Given the description of an element on the screen output the (x, y) to click on. 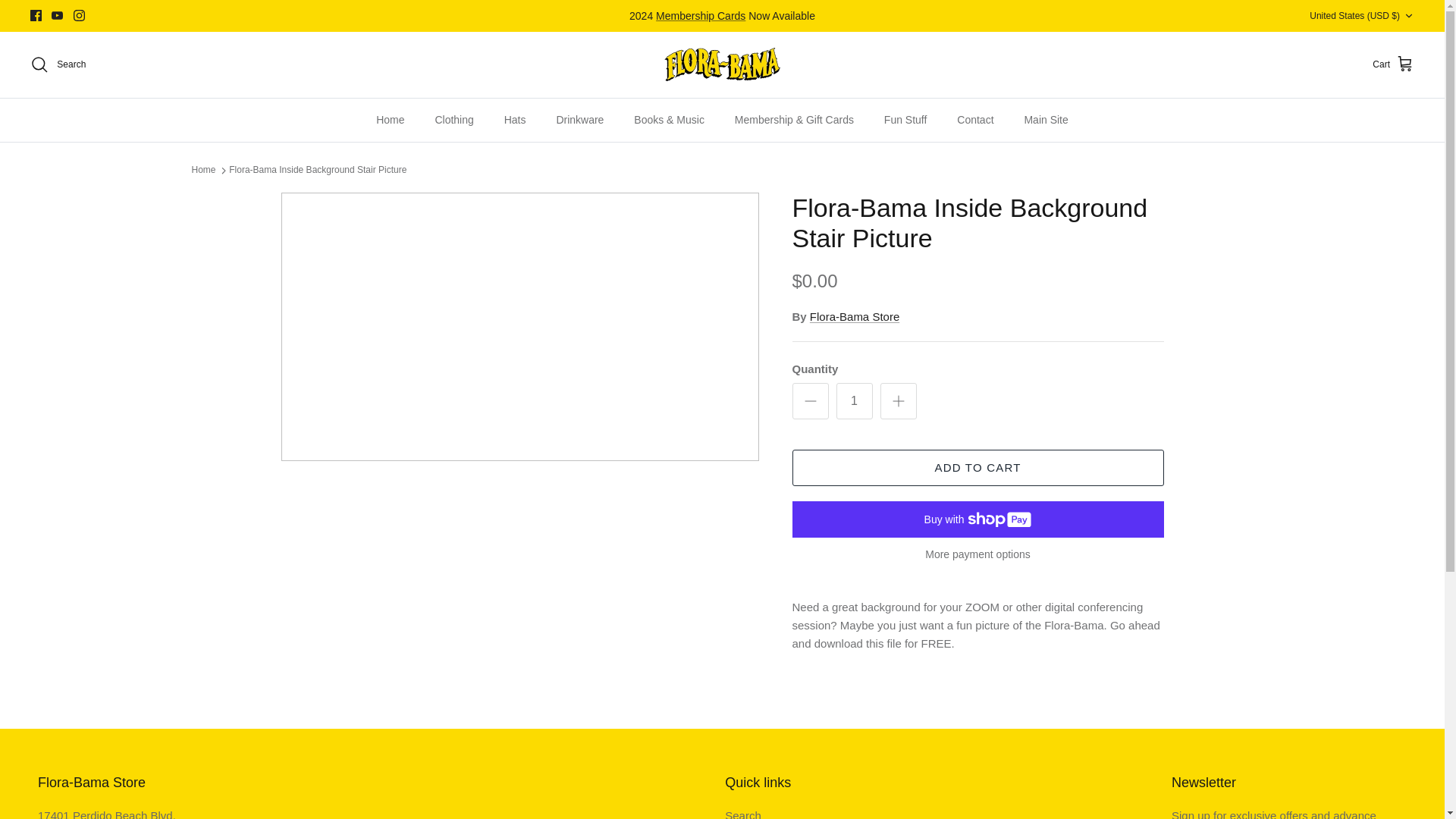
Cart (1393, 64)
Membership Cards (700, 15)
Clothing (453, 119)
Instagram (79, 15)
Home (389, 119)
Drinkware (579, 119)
Instagram (79, 15)
Plus (897, 401)
Down (1408, 15)
Minus (809, 401)
